Given the description of an element on the screen output the (x, y) to click on. 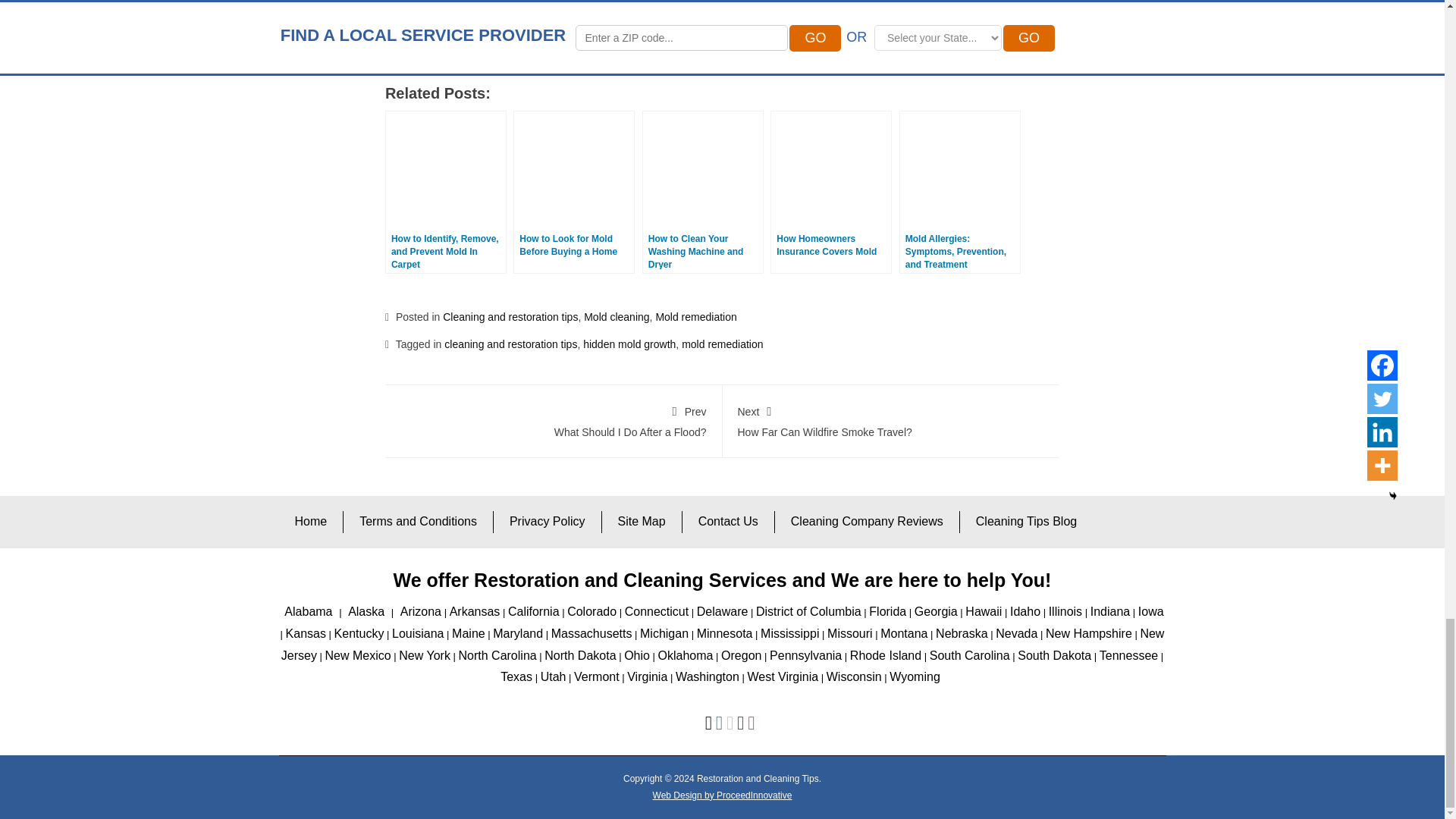
Cleaning and restoration tips (510, 316)
cleaning and restoration tips (510, 344)
Mold remediation (695, 316)
Mold cleaning (616, 316)
